Given the description of an element on the screen output the (x, y) to click on. 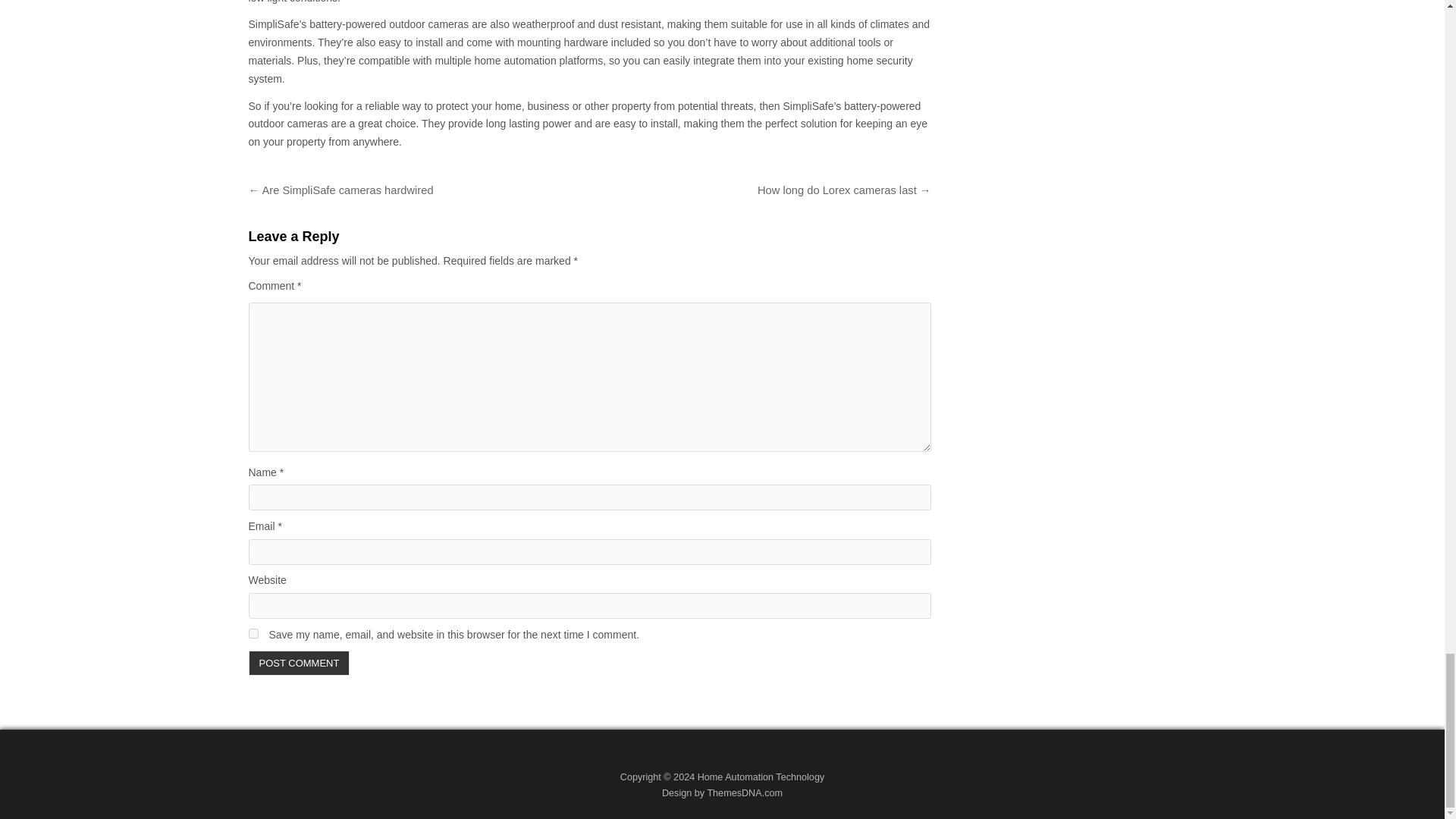
yes (253, 633)
Design by ThemesDNA.com (722, 792)
Post Comment (299, 662)
Post Comment (299, 662)
